Given the description of an element on the screen output the (x, y) to click on. 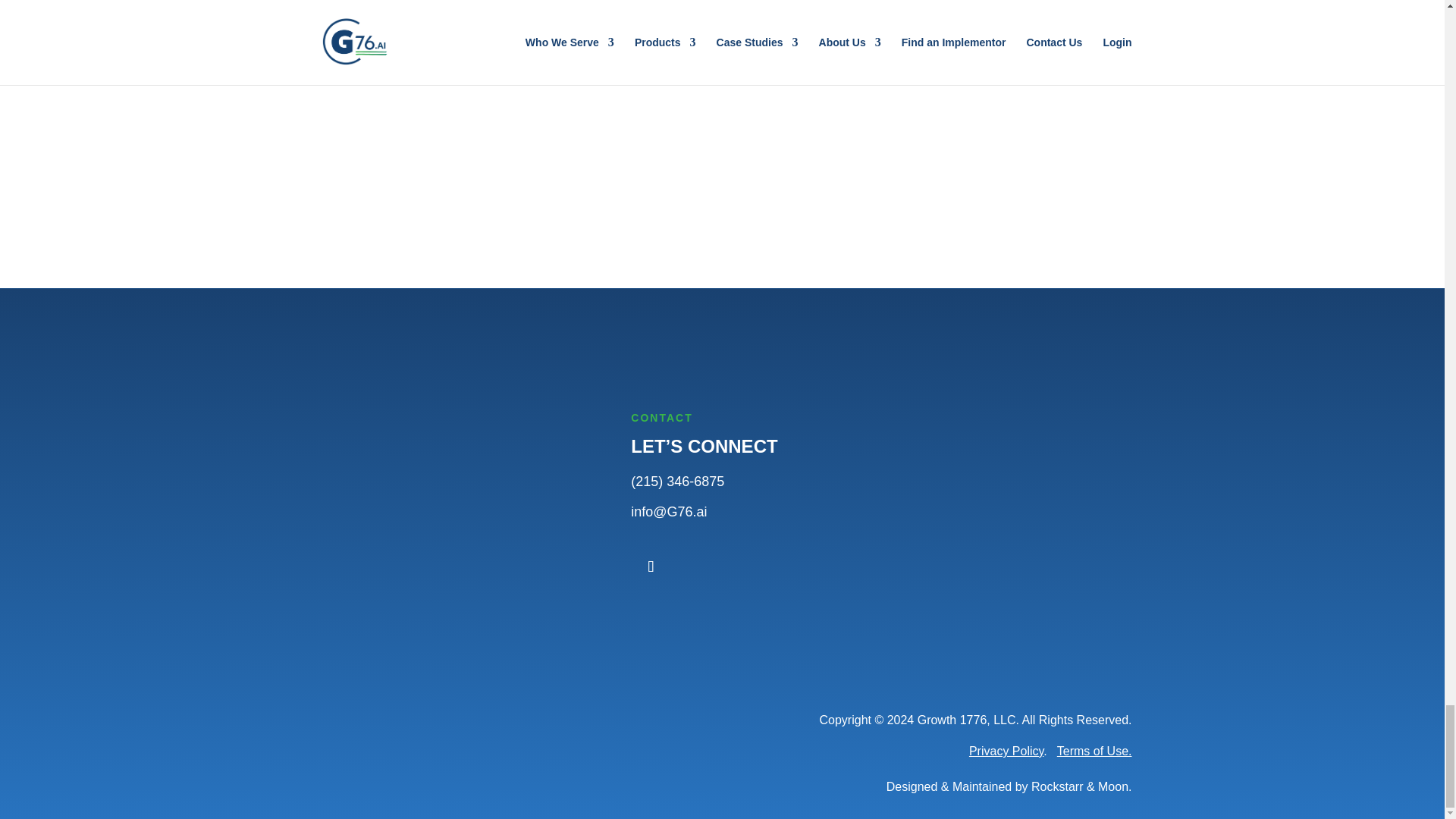
Follow on LinkedIn (649, 566)
